Given the description of an element on the screen output the (x, y) to click on. 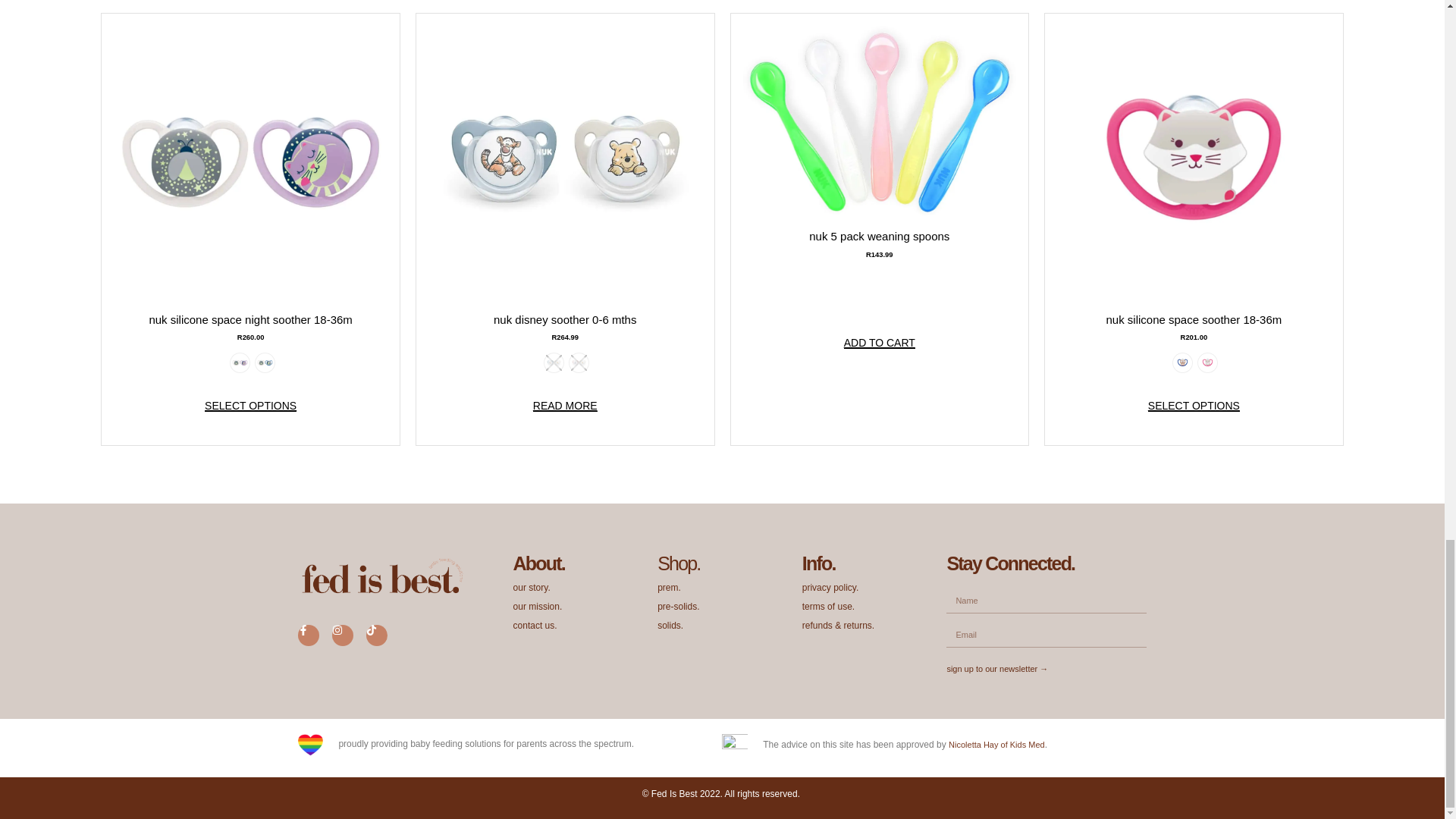
Girl (578, 362)
Boy (553, 362)
Blue Owl (1182, 362)
Dark Pink Cat (1207, 362)
